Given the description of an element on the screen output the (x, y) to click on. 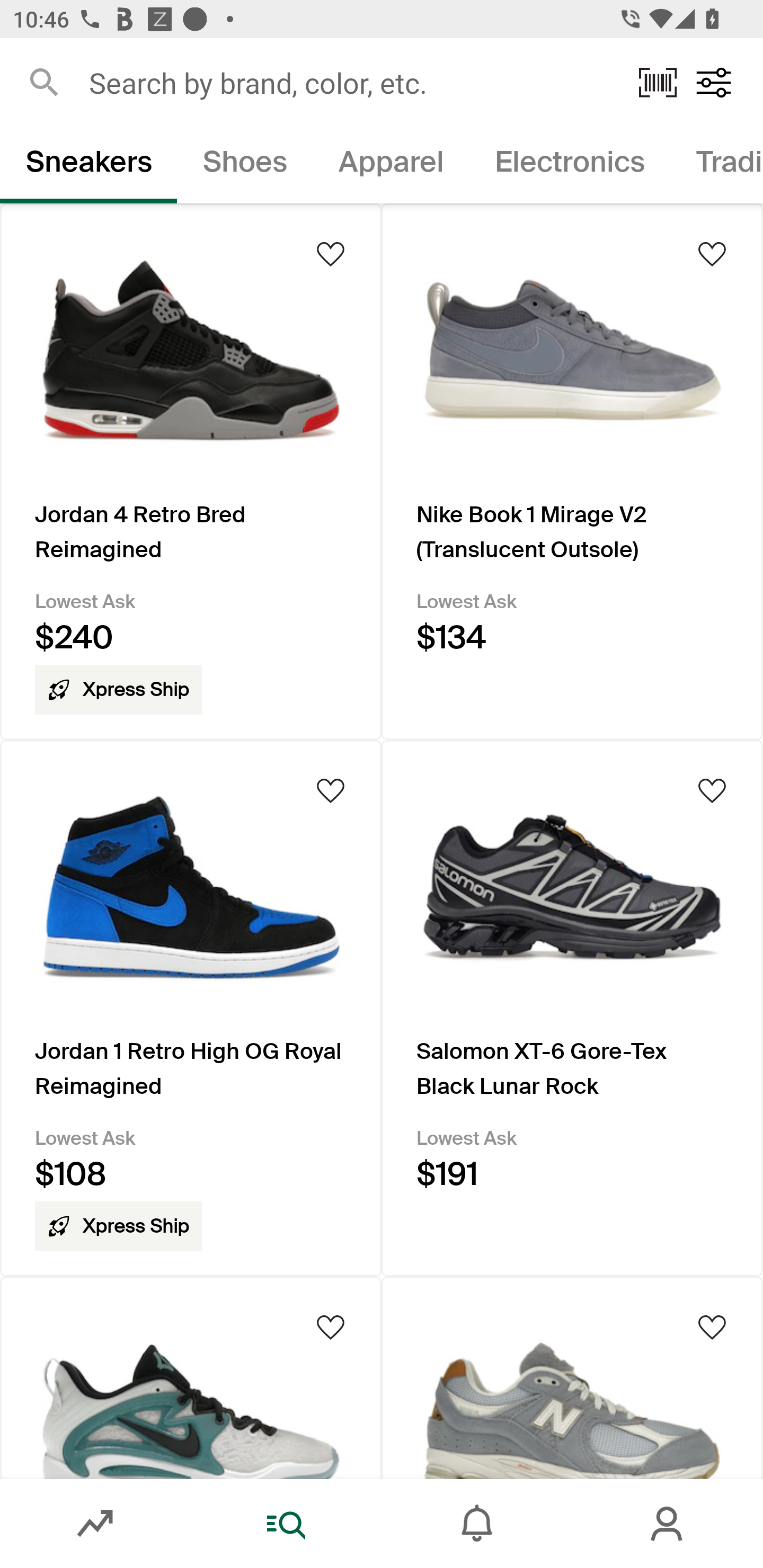
Search by brand, color, etc. (351, 82)
Shoes (244, 165)
Apparel (390, 165)
Electronics (569, 165)
Product Image (190, 1377)
Product Image (572, 1377)
Market (95, 1523)
Inbox (476, 1523)
Account (667, 1523)
